Given the description of an element on the screen output the (x, y) to click on. 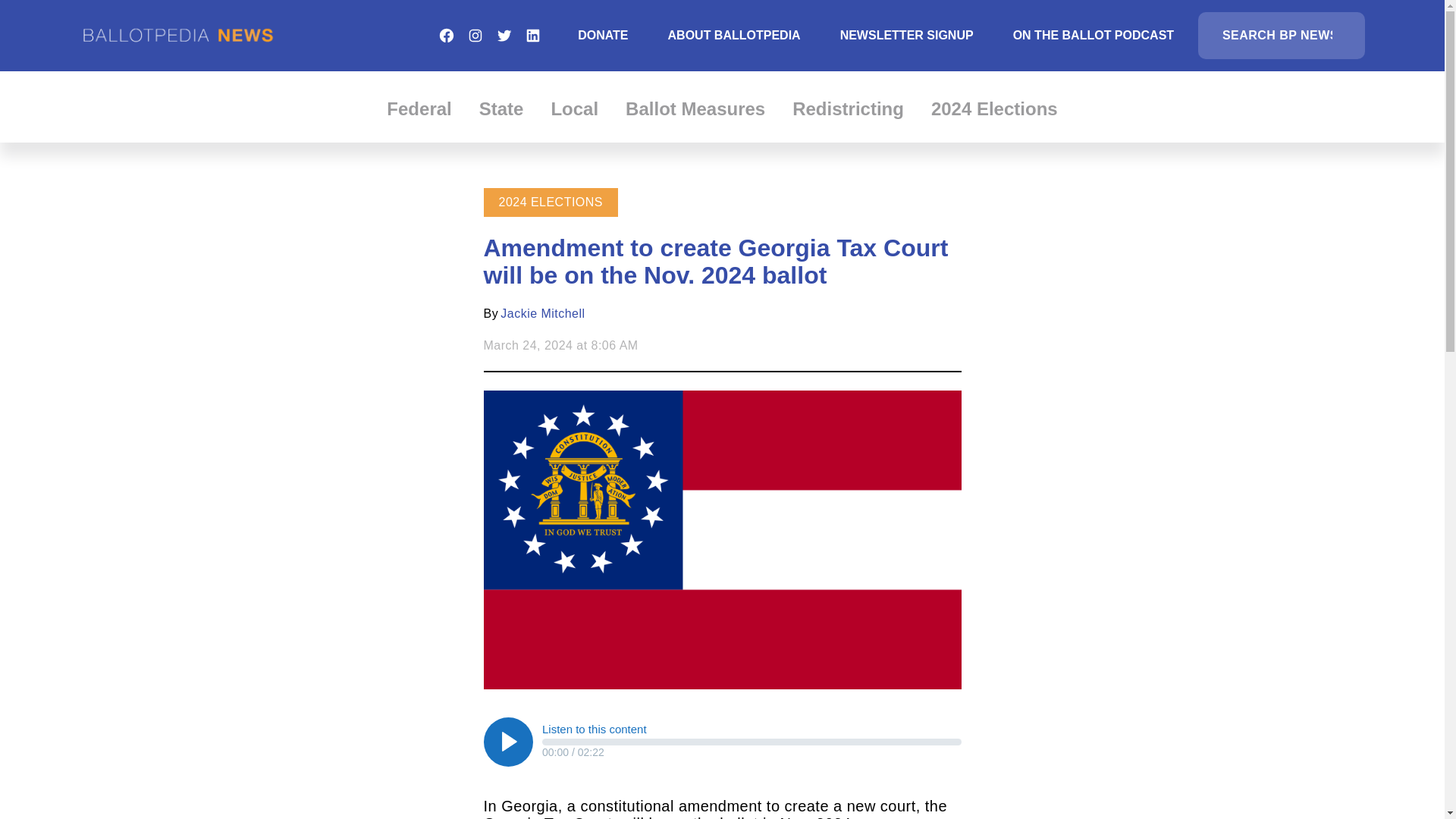
Instagram (475, 35)
State (501, 108)
DONATE (602, 35)
Redistricting (848, 108)
Jackie Mitchell (542, 313)
2024 ELECTIONS (550, 201)
Ballot Measures (695, 108)
LinkedIn (532, 35)
Local (574, 108)
ON THE BALLOT PODCAST (1093, 35)
